Given the description of an element on the screen output the (x, y) to click on. 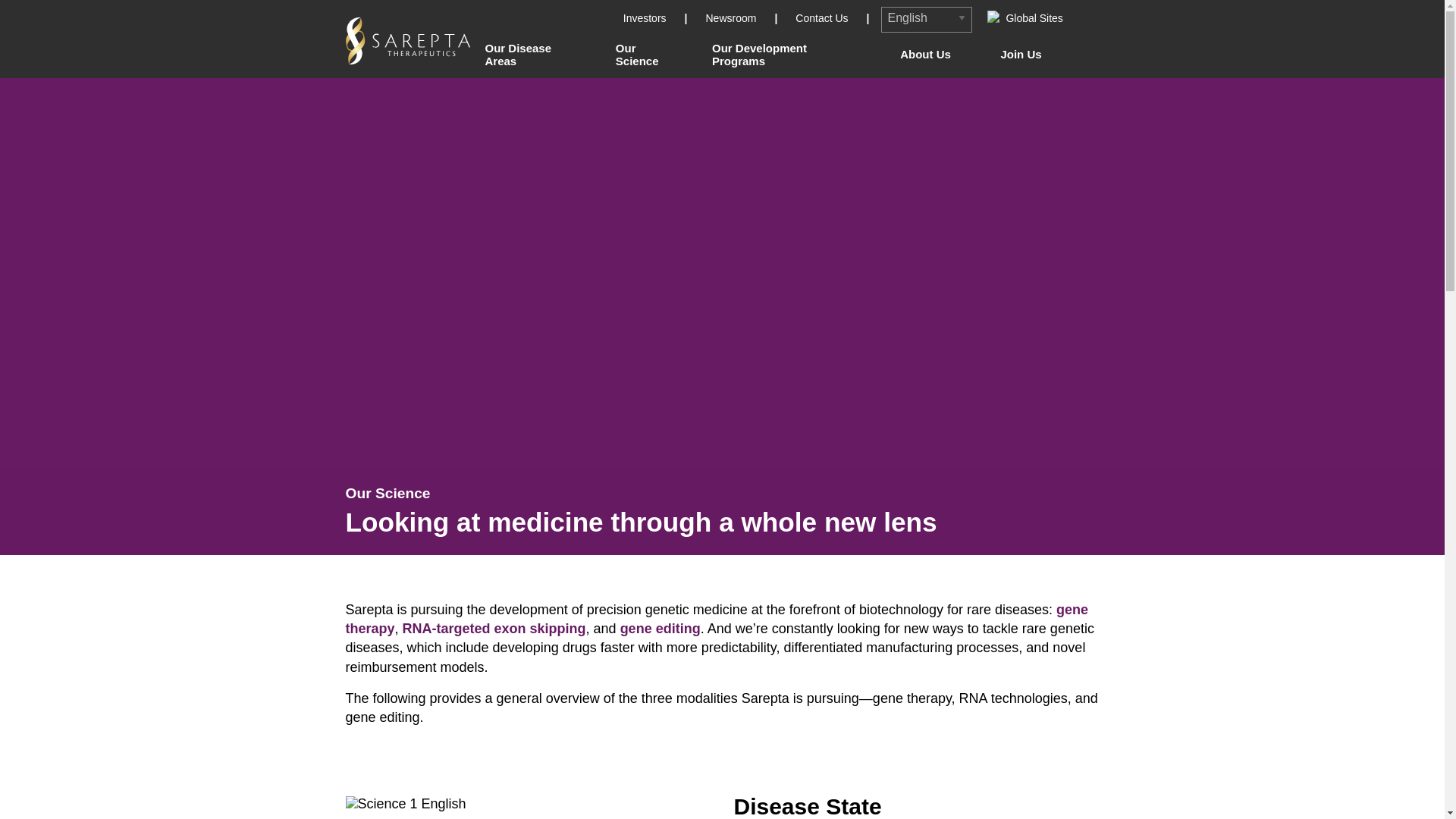
Our Development Programs (787, 53)
About Us (925, 53)
Newsroom (732, 18)
Investors (646, 18)
Our Disease Areas (534, 53)
Home (408, 39)
Contact Us (823, 18)
Our Science (648, 53)
